Given the description of an element on the screen output the (x, y) to click on. 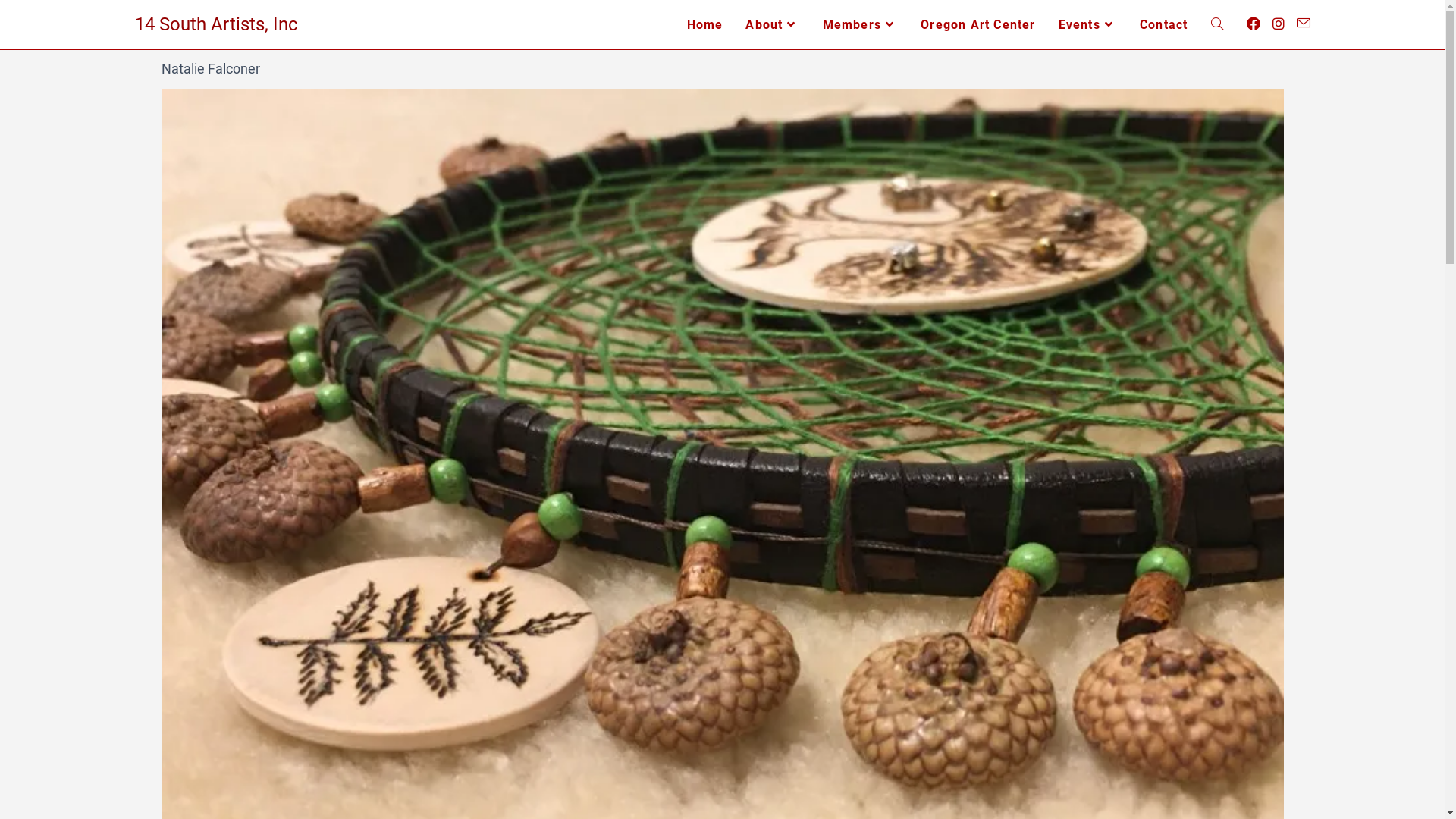
14 South Artists, Inc Element type: text (216, 23)
About Element type: text (772, 24)
Events Element type: text (1087, 24)
Contact Element type: text (1163, 24)
Oregon Art Center Element type: text (977, 24)
Members Element type: text (860, 24)
Home Element type: text (704, 24)
